Given the description of an element on the screen output the (x, y) to click on. 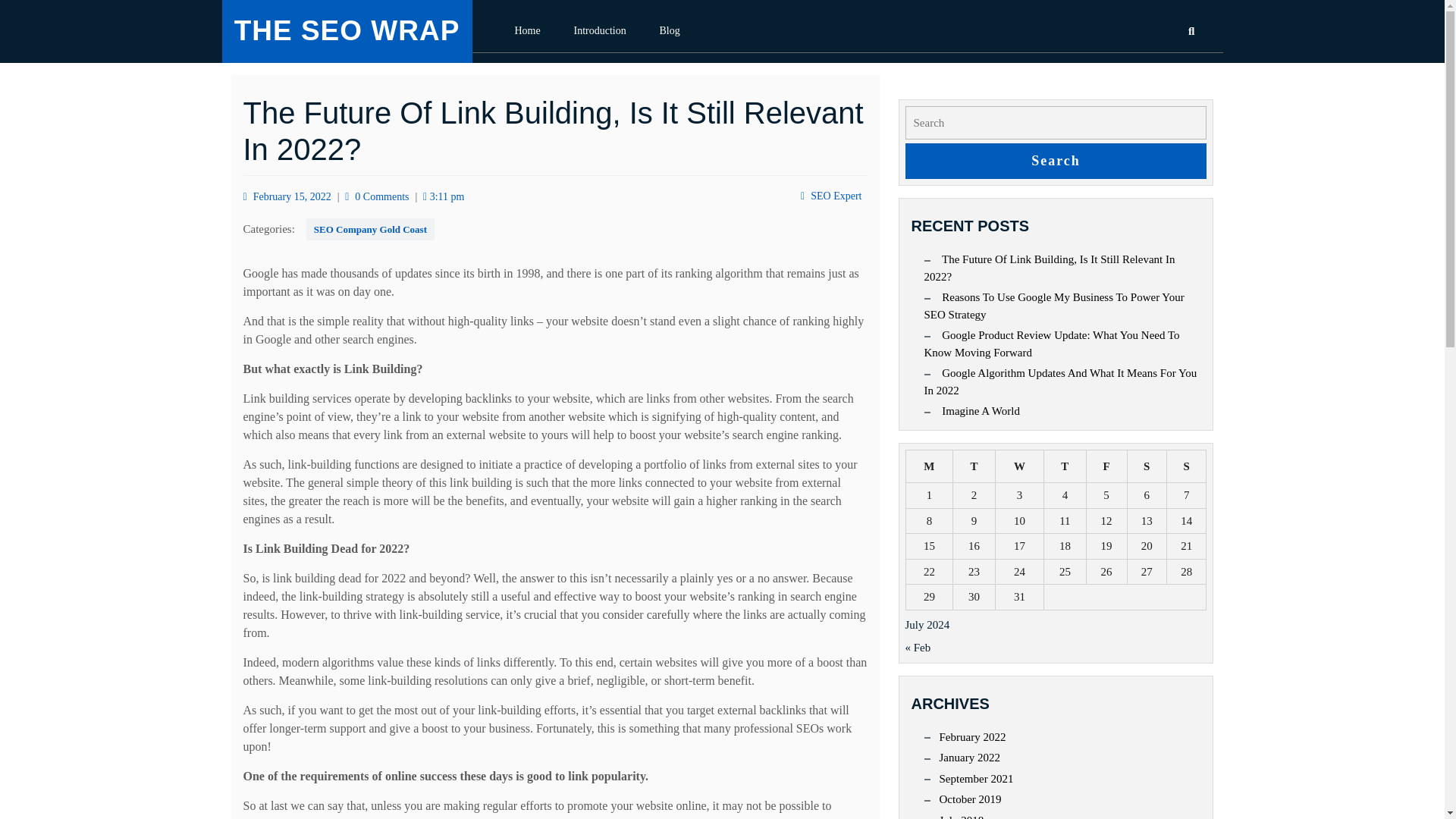
Reasons To Use Google My Business To Power Your SEO Strategy (1053, 305)
Thursday (1064, 466)
Monday (929, 466)
Search (1056, 161)
THE SEO WRAP (347, 30)
October 2019 (970, 799)
Search (1158, 77)
July 2018 (961, 814)
SEO Company Gold Coast (369, 229)
